Given the description of an element on the screen output the (x, y) to click on. 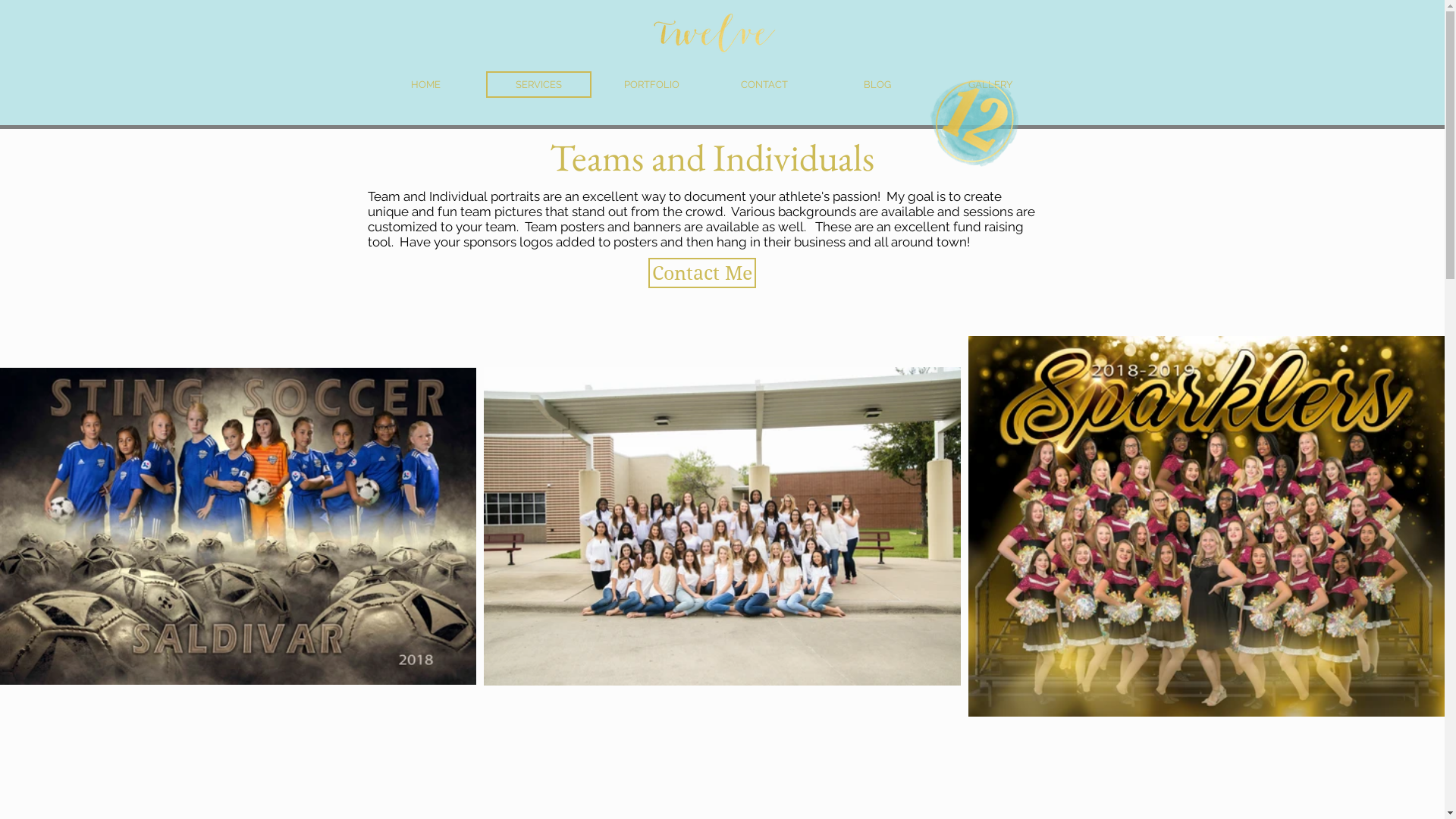
PORTFOLIO Element type: text (651, 84)
CONTACT Element type: text (763, 84)
BLOG Element type: text (877, 84)
SERVICES Element type: text (537, 84)
GALLERY Element type: text (989, 84)
Contact Me Element type: text (701, 272)
HOME Element type: text (425, 84)
